Given the description of an element on the screen output the (x, y) to click on. 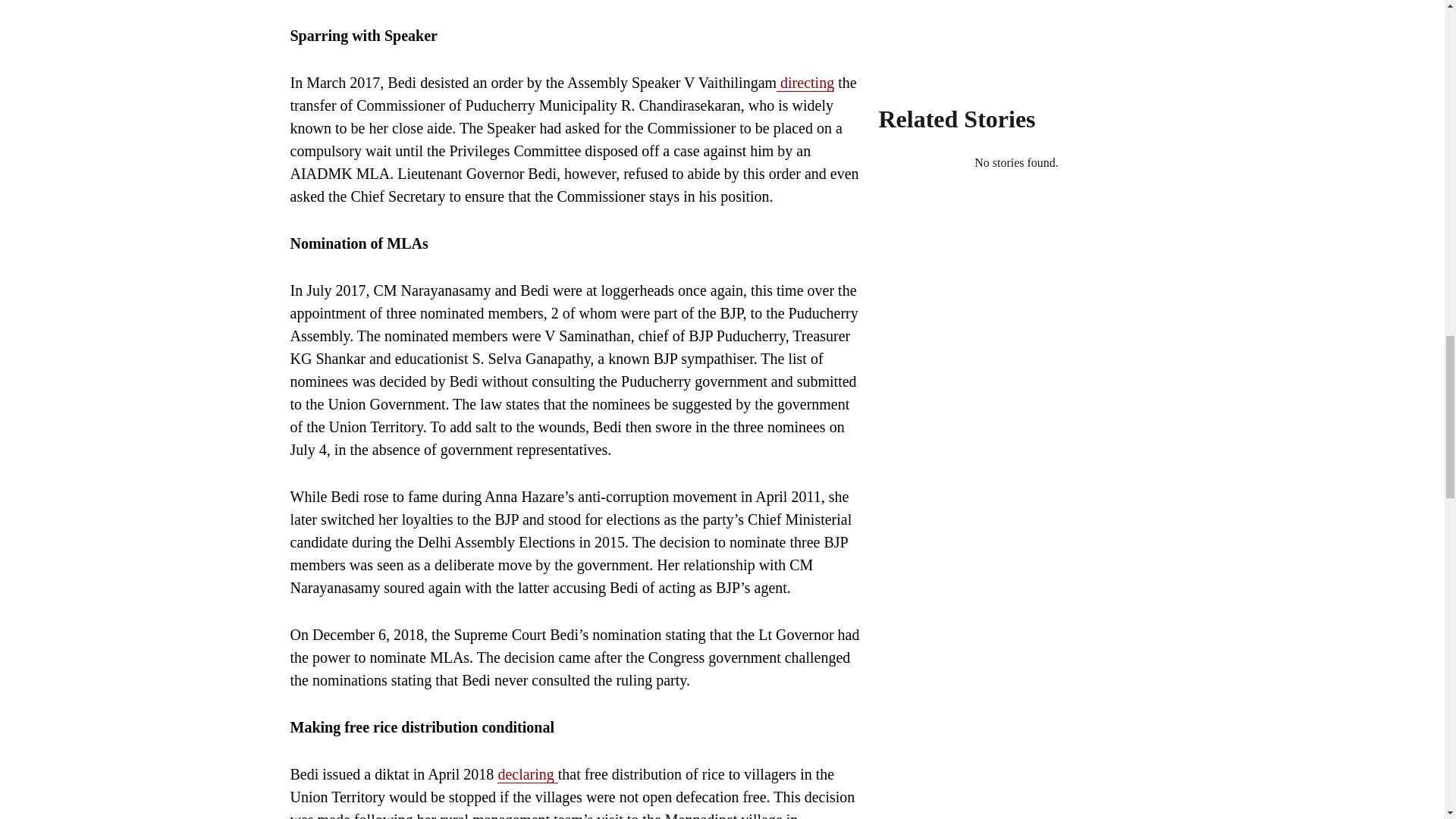
directing (805, 82)
declaring (527, 773)
